Given the description of an element on the screen output the (x, y) to click on. 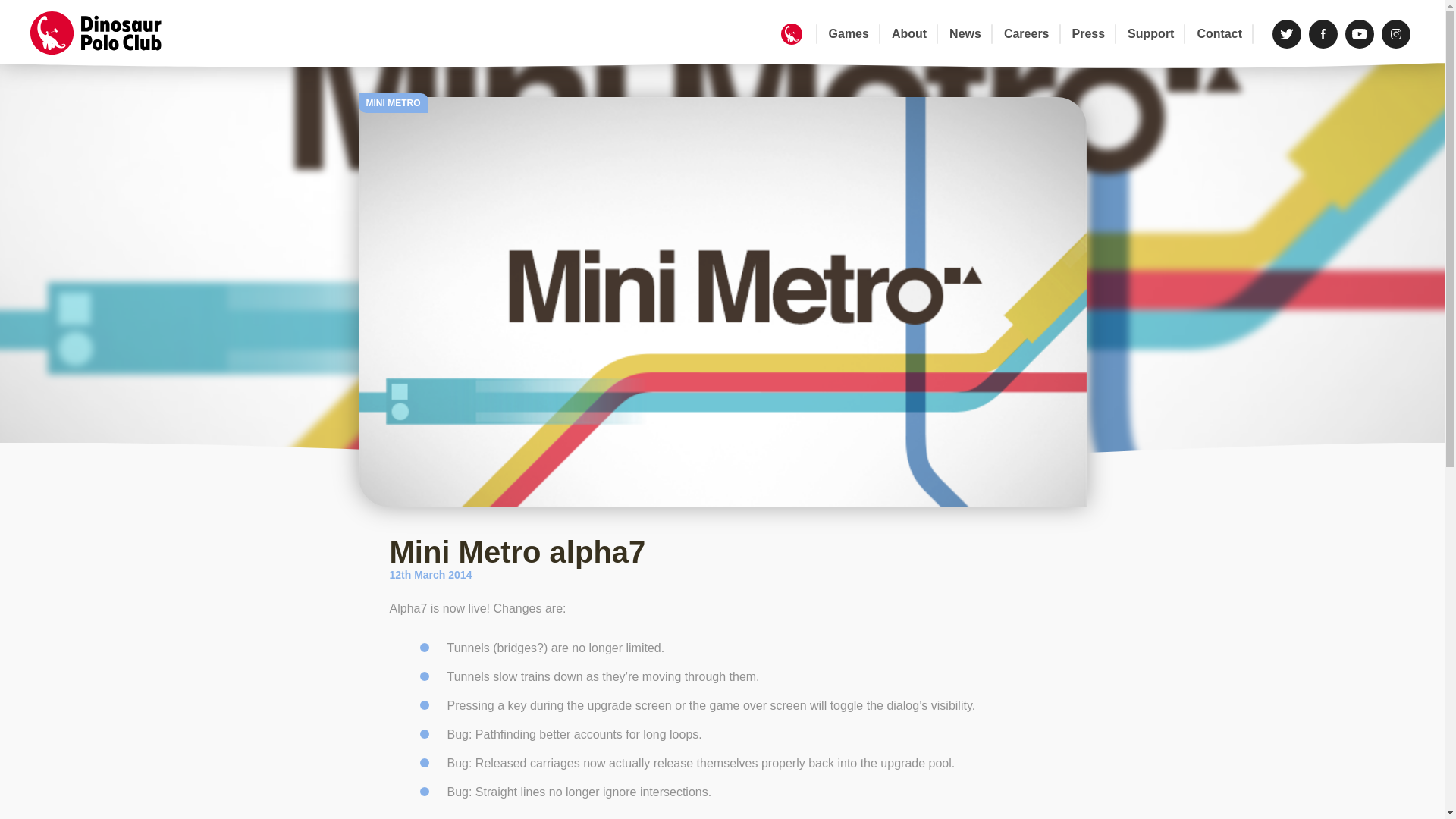
Press (1088, 34)
Facebook (1323, 33)
About (908, 34)
Instagram (1395, 33)
MINI METRO (393, 103)
News (964, 34)
Homepage (791, 34)
Careers (1026, 34)
YouTube (1359, 33)
Contact (1219, 34)
Support (1150, 34)
Twitter (1286, 33)
Dinosaur Polo Club (106, 33)
Games (848, 34)
